Given the description of an element on the screen output the (x, y) to click on. 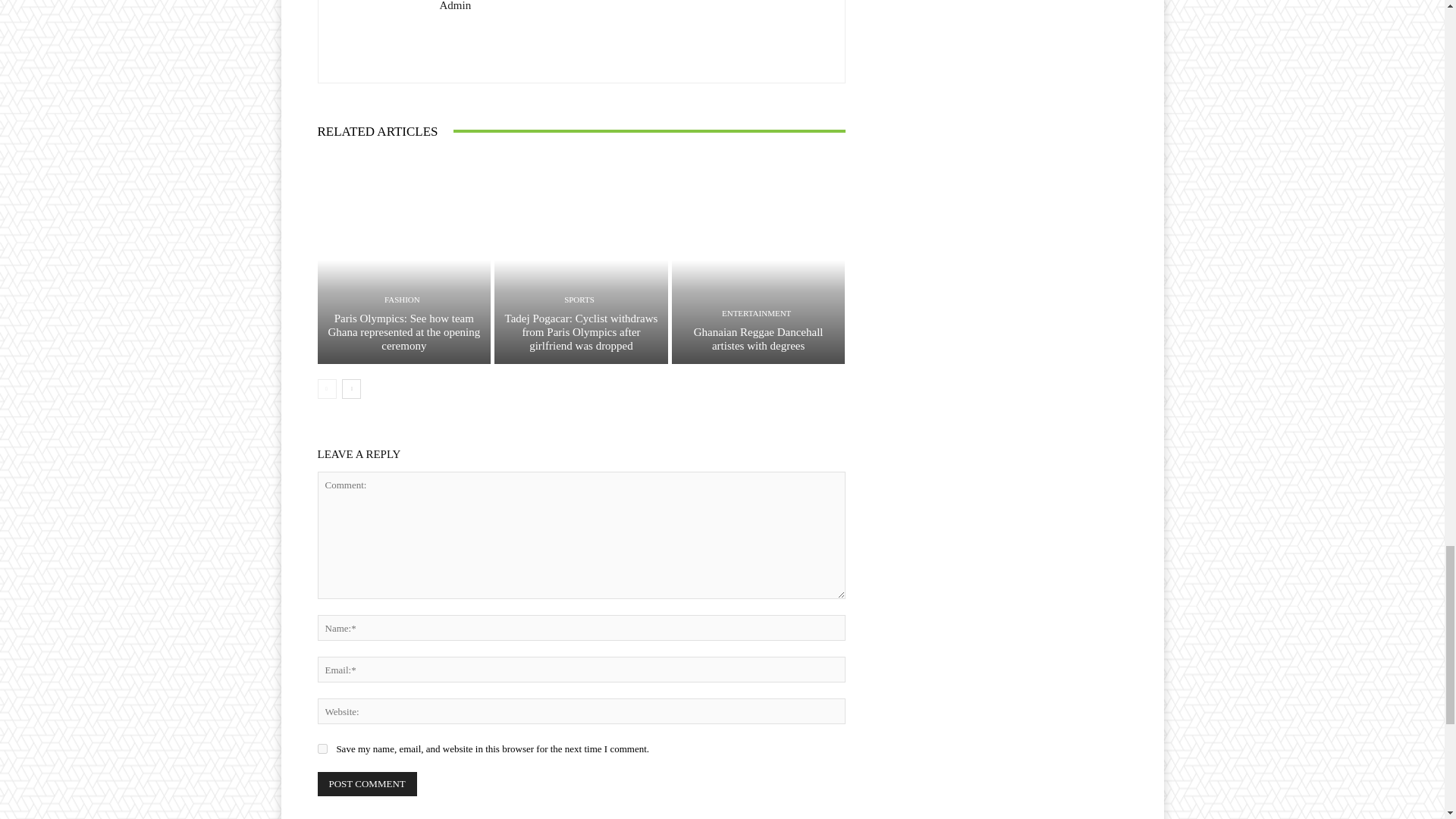
Post Comment (366, 784)
yes (321, 748)
